Given the description of an element on the screen output the (x, y) to click on. 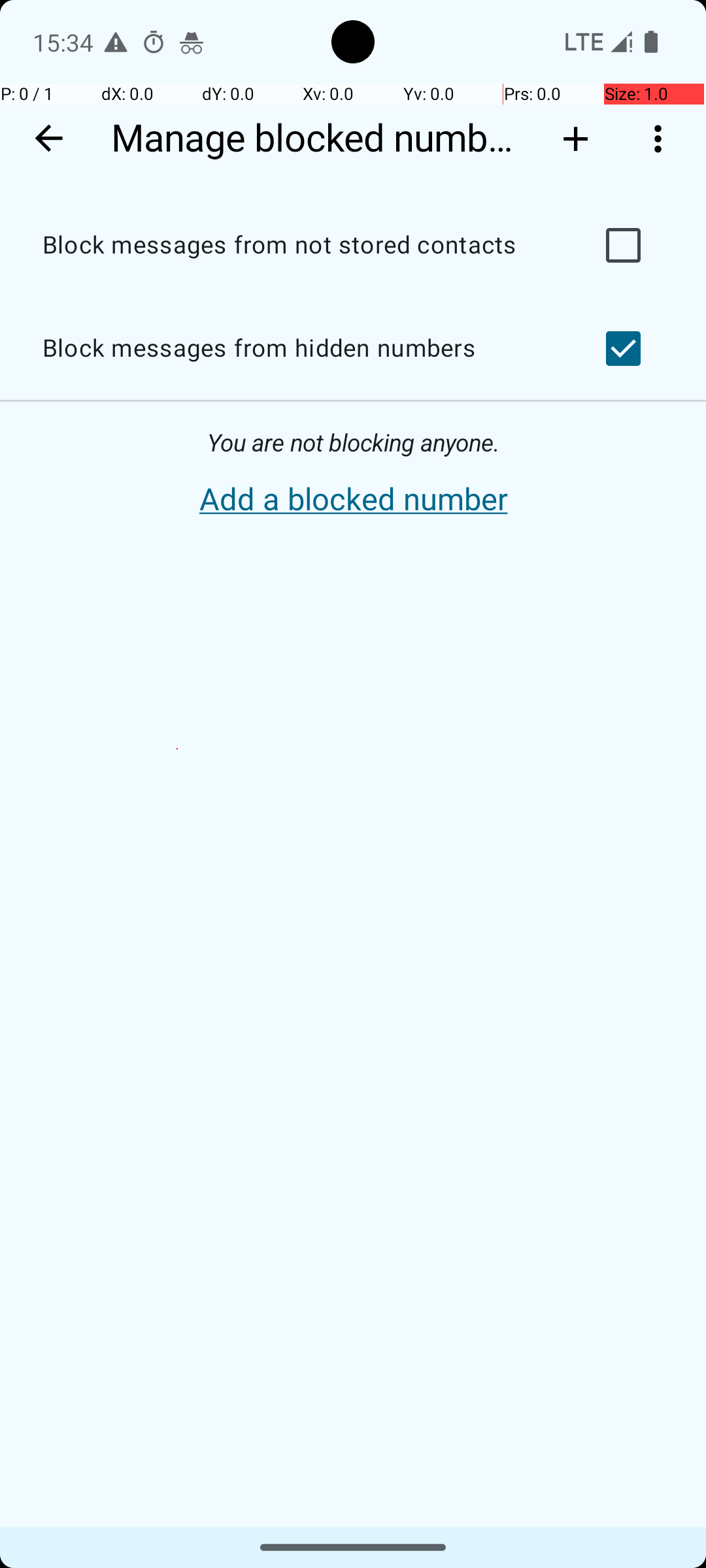
You are not blocking anyone. Element type: android.widget.TextView (352, 443)
Manage blocked numbers Element type: android.widget.TextView (318, 138)
Block messages from not stored contacts Element type: android.widget.TextView (297, 244)
Block messages from hidden numbers Element type: android.widget.TextView (297, 348)
Add a blocked number Element type: android.widget.TextView (352, 499)
